Given the description of an element on the screen output the (x, y) to click on. 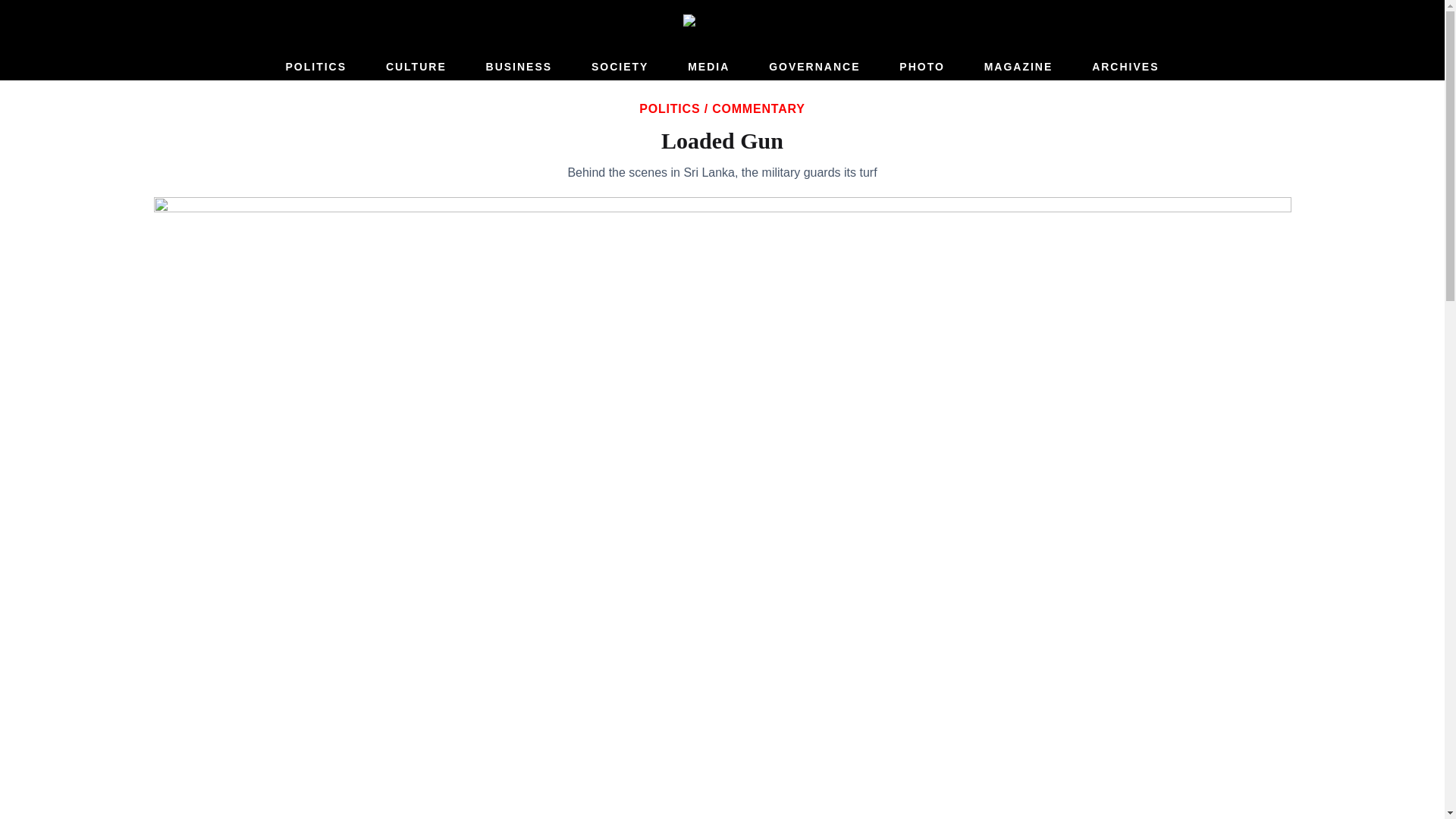
PHOTO (921, 66)
SOCIETY (619, 66)
COMMENTARY (758, 108)
POLITICS (669, 108)
GOVERNANCE (814, 66)
CULTURE (416, 66)
POLITICS (315, 66)
MAGAZINE (1018, 66)
BUSINESS (519, 66)
MEDIA (708, 66)
ARCHIVES (1125, 66)
